Given the description of an element on the screen output the (x, y) to click on. 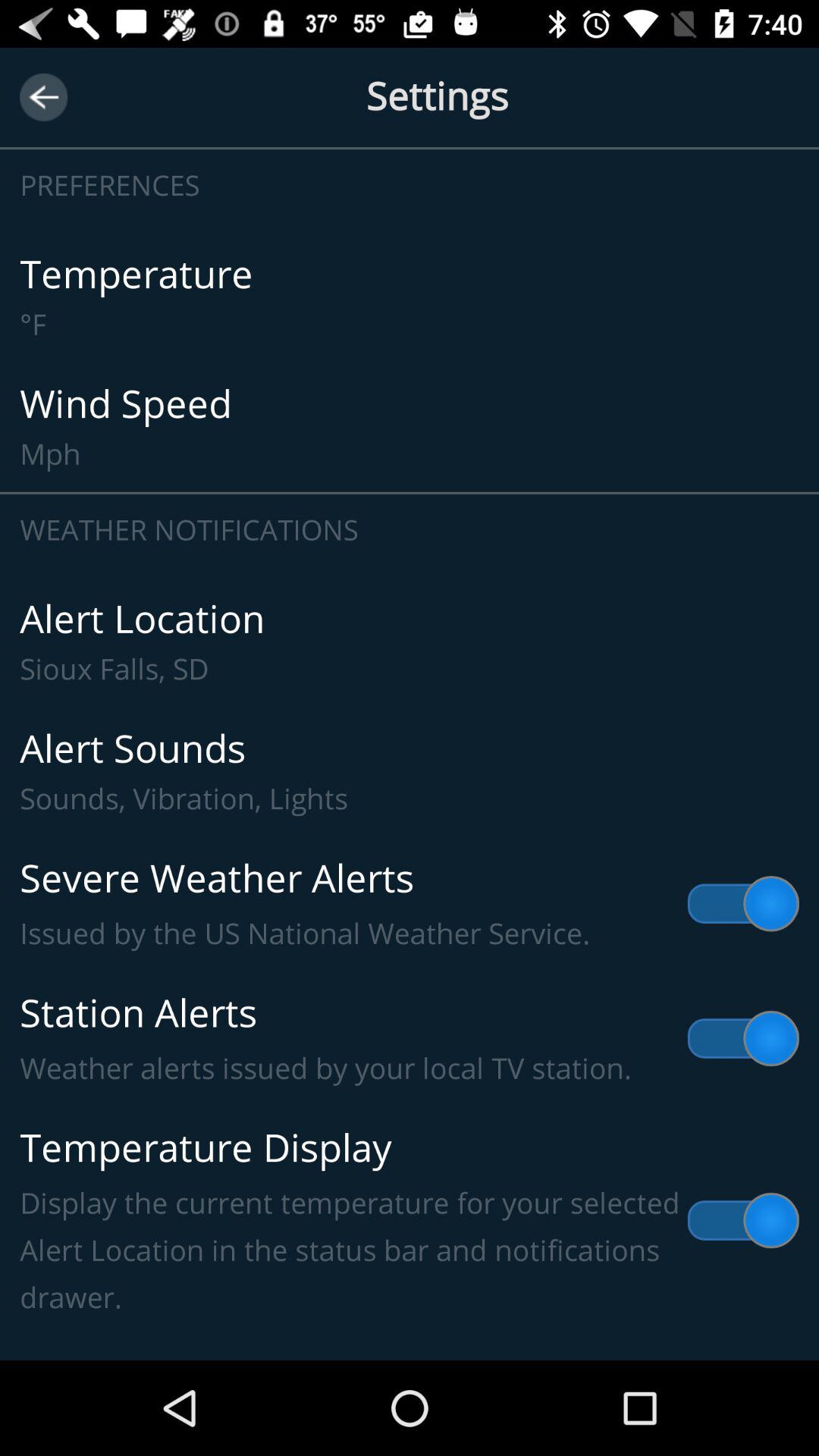
launch alert sounds sounds icon (409, 771)
